Given the description of an element on the screen output the (x, y) to click on. 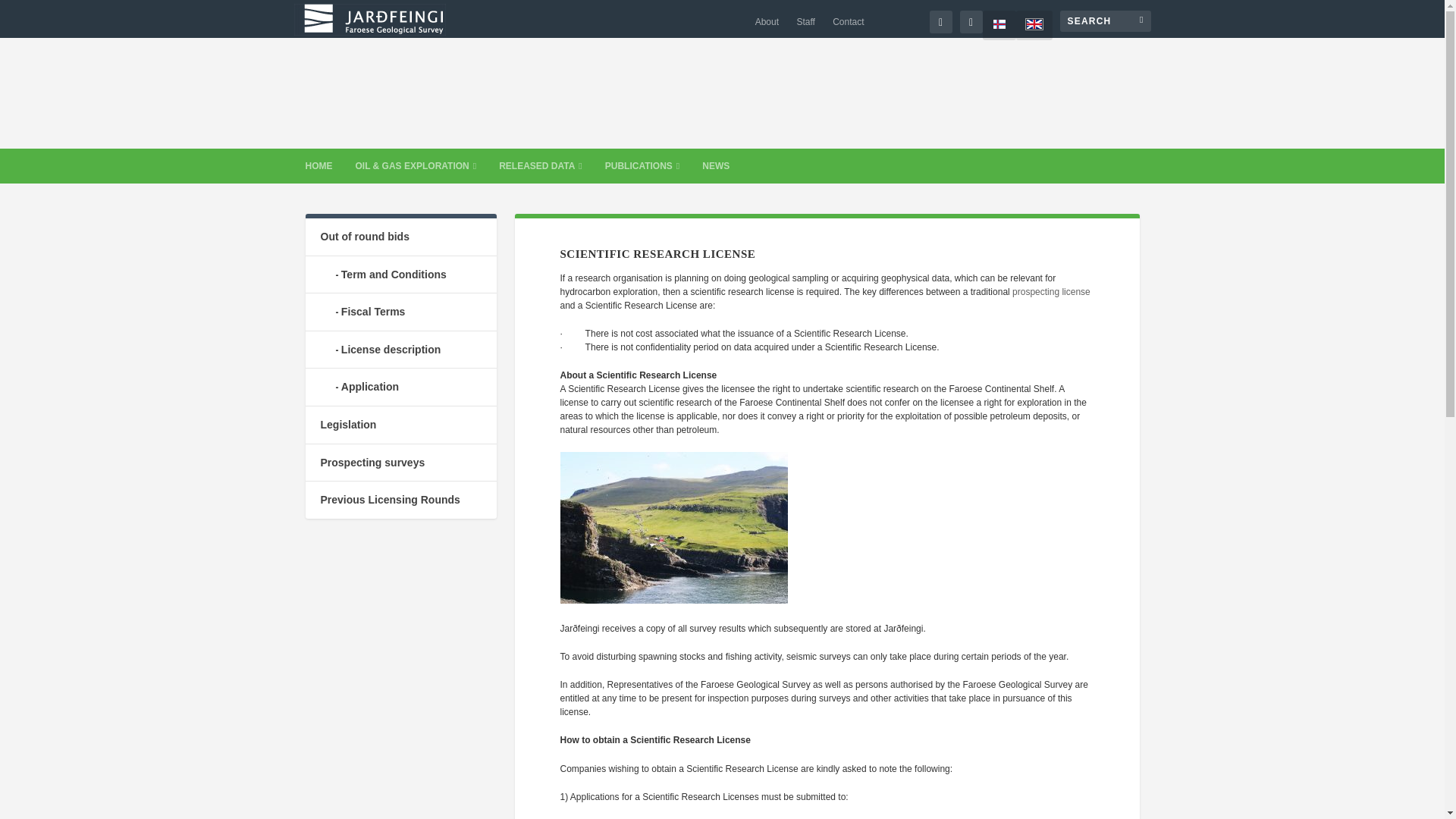
RELEASED DATA (540, 165)
English (1034, 25)
prospecting license (1050, 291)
PUBLICATIONS (642, 165)
fo (999, 25)
Search for: (1105, 20)
